Given the description of an element on the screen output the (x, y) to click on. 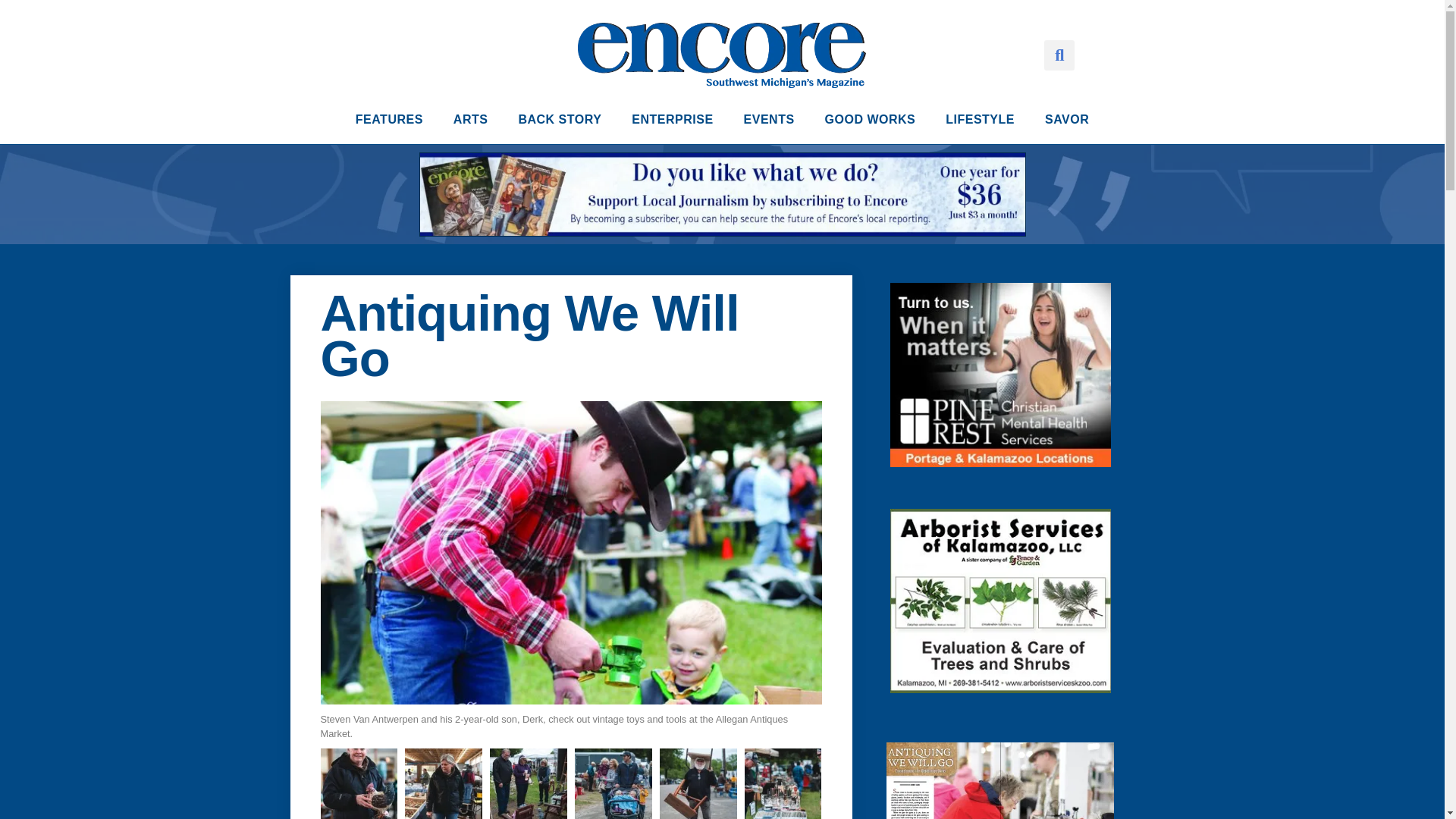
SAVOR (1066, 119)
FEATURES (389, 119)
GOOD WORKS (870, 119)
BACK STORY (558, 119)
EVENTS (769, 119)
LIFESTYLE (979, 119)
ARTS (470, 119)
ENTERPRISE (671, 119)
